Given the description of an element on the screen output the (x, y) to click on. 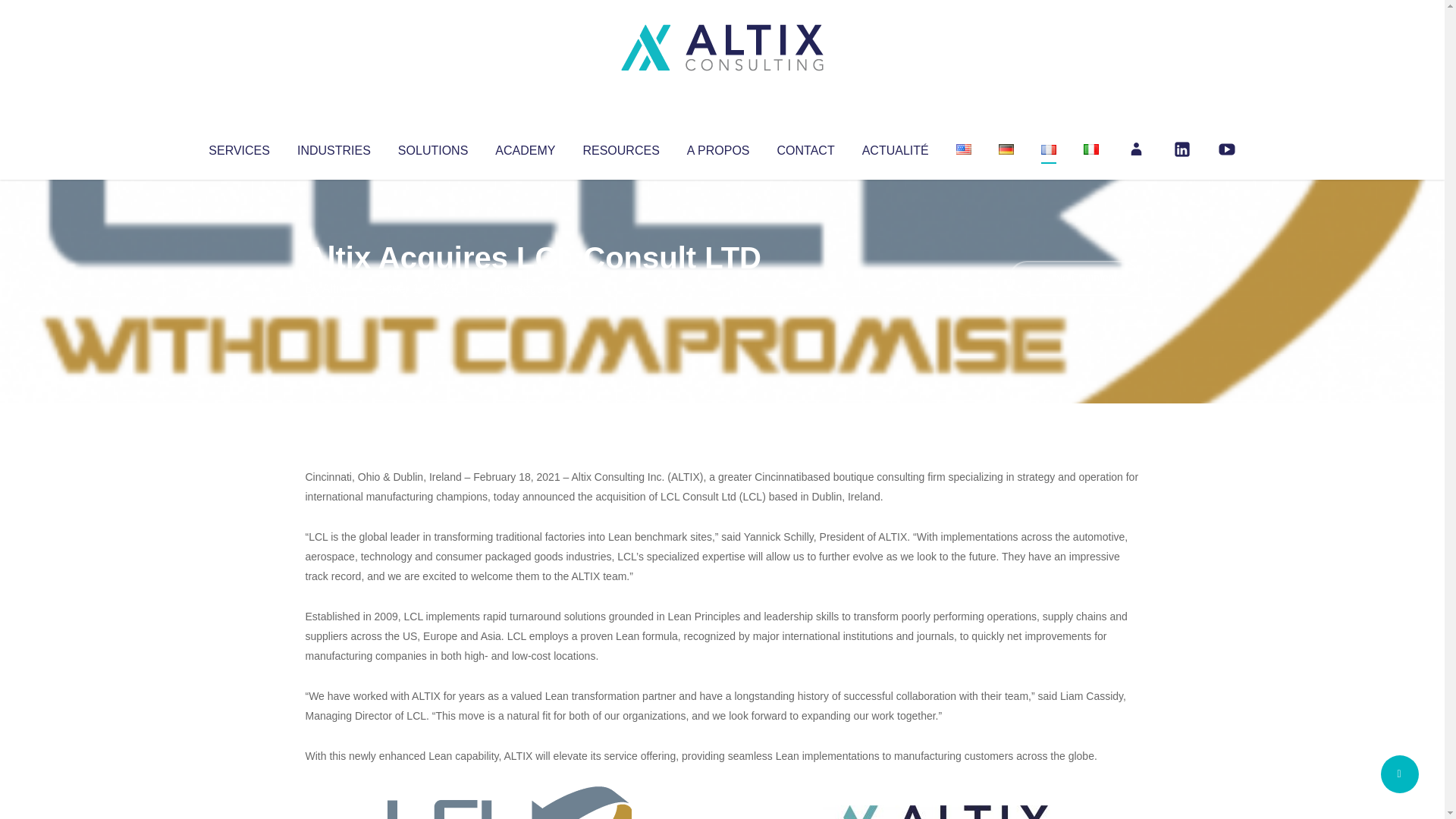
RESOURCES (620, 146)
Articles par Altix (333, 287)
ACADEMY (524, 146)
No Comments (1073, 278)
Altix (333, 287)
SOLUTIONS (432, 146)
Uncategorized (530, 287)
A PROPOS (718, 146)
INDUSTRIES (334, 146)
SERVICES (238, 146)
